Given the description of an element on the screen output the (x, y) to click on. 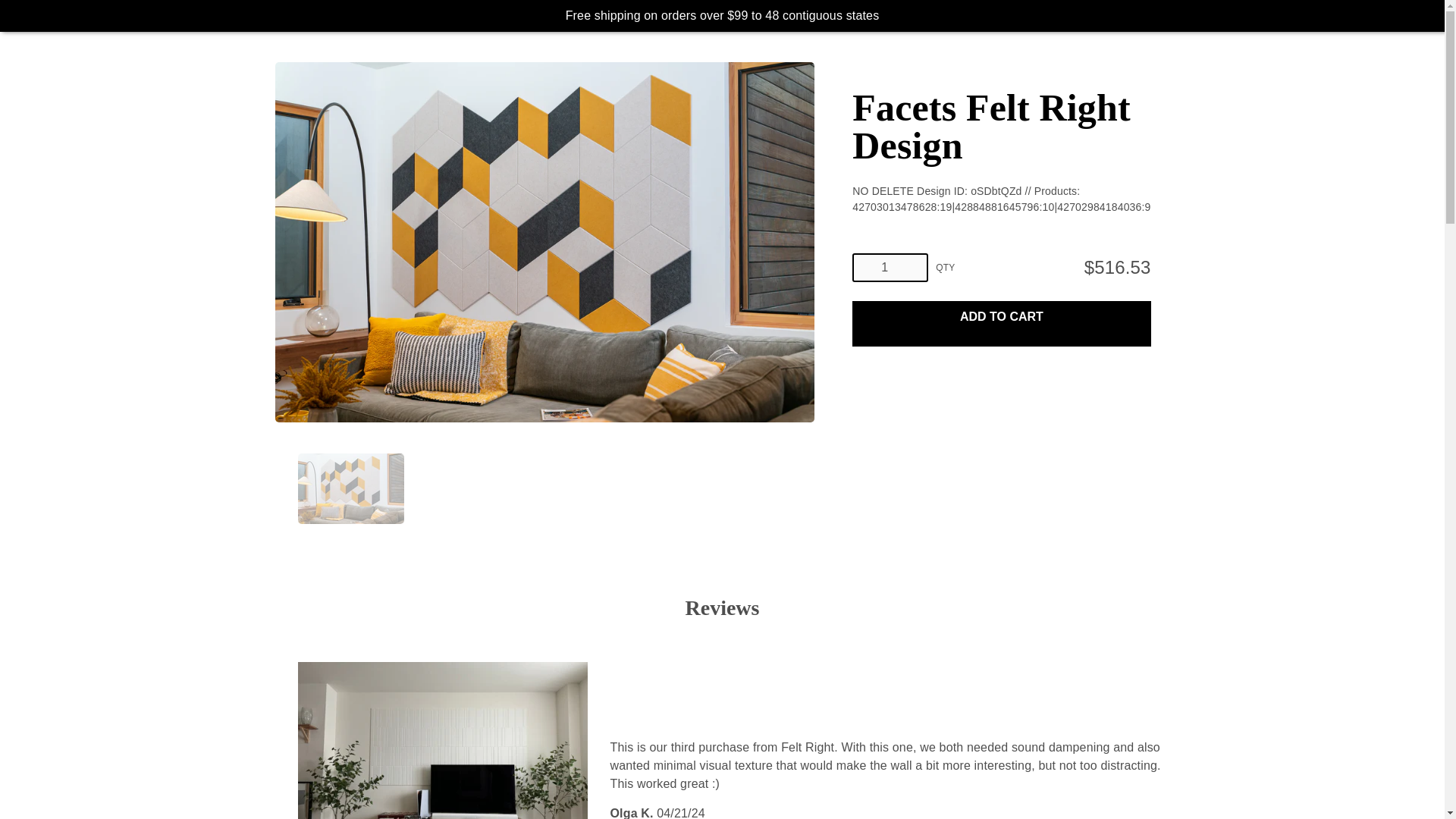
Skip to content (11, 11)
ADD TO CART (1000, 316)
1 (889, 267)
